Given the description of an element on the screen output the (x, y) to click on. 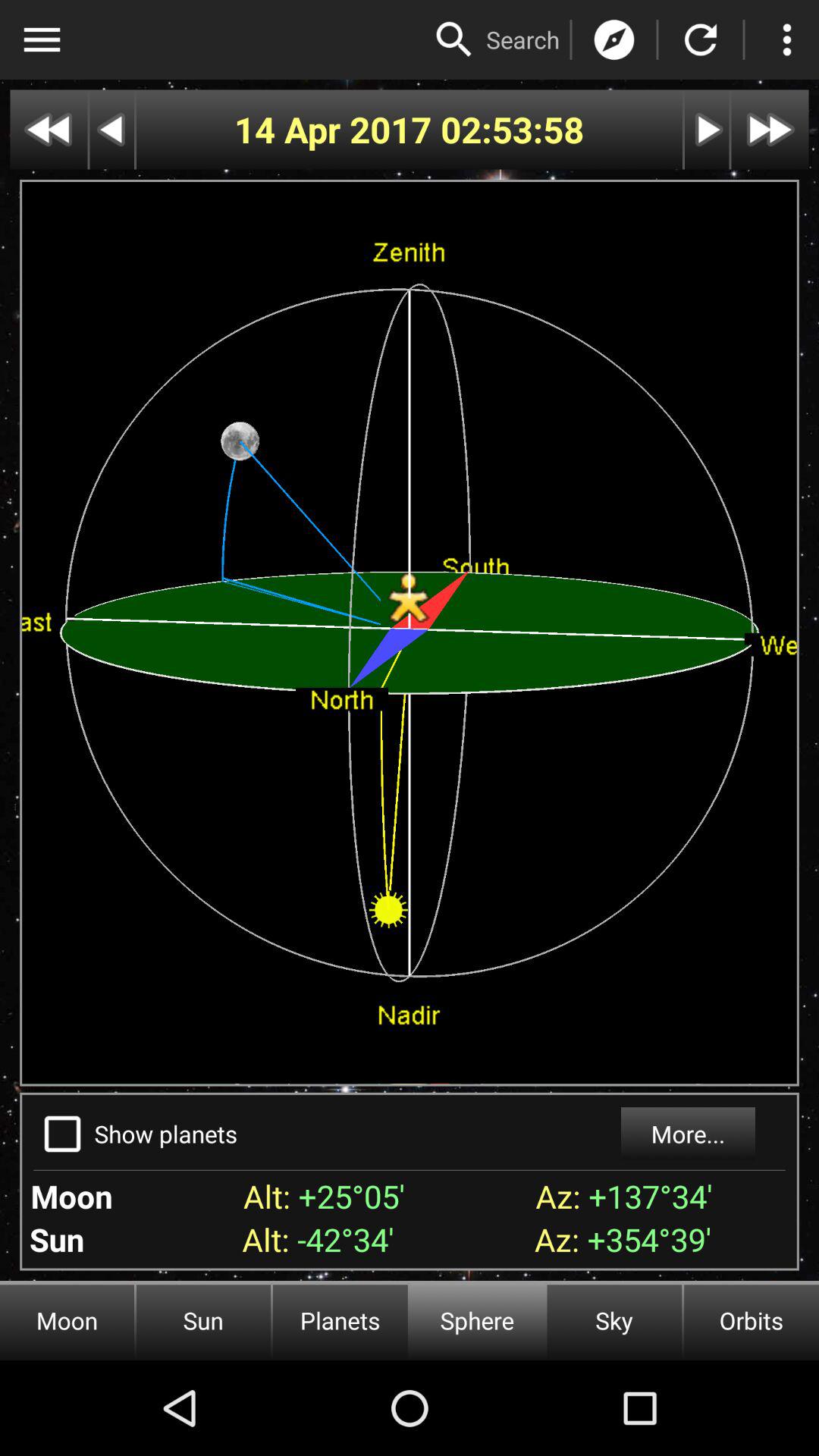
positions of moon sun and we in the simple sky sphere (700, 39)
